Given the description of an element on the screen output the (x, y) to click on. 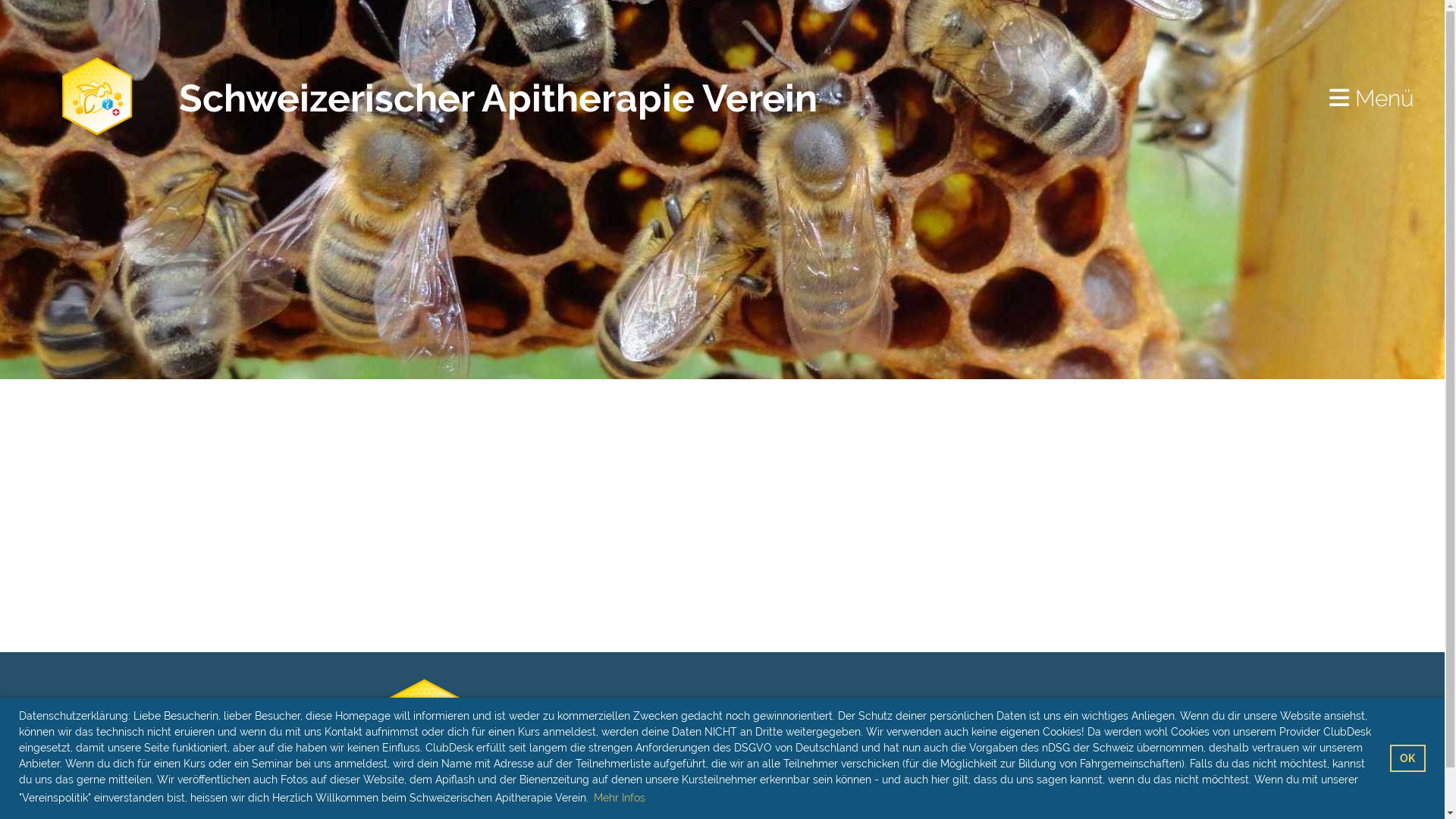
Impressum / Datenschutz Element type: text (960, 782)
Schweizerischer Apitherapie Verein Element type: text (497, 98)
Links Element type: text (960, 766)
OK Element type: text (1407, 757)
Mehr Infos Element type: text (619, 797)
Mitglied werden Element type: text (960, 749)
Kontakt Element type: text (960, 715)
Aktuelles Element type: text (960, 731)
